Given the description of an element on the screen output the (x, y) to click on. 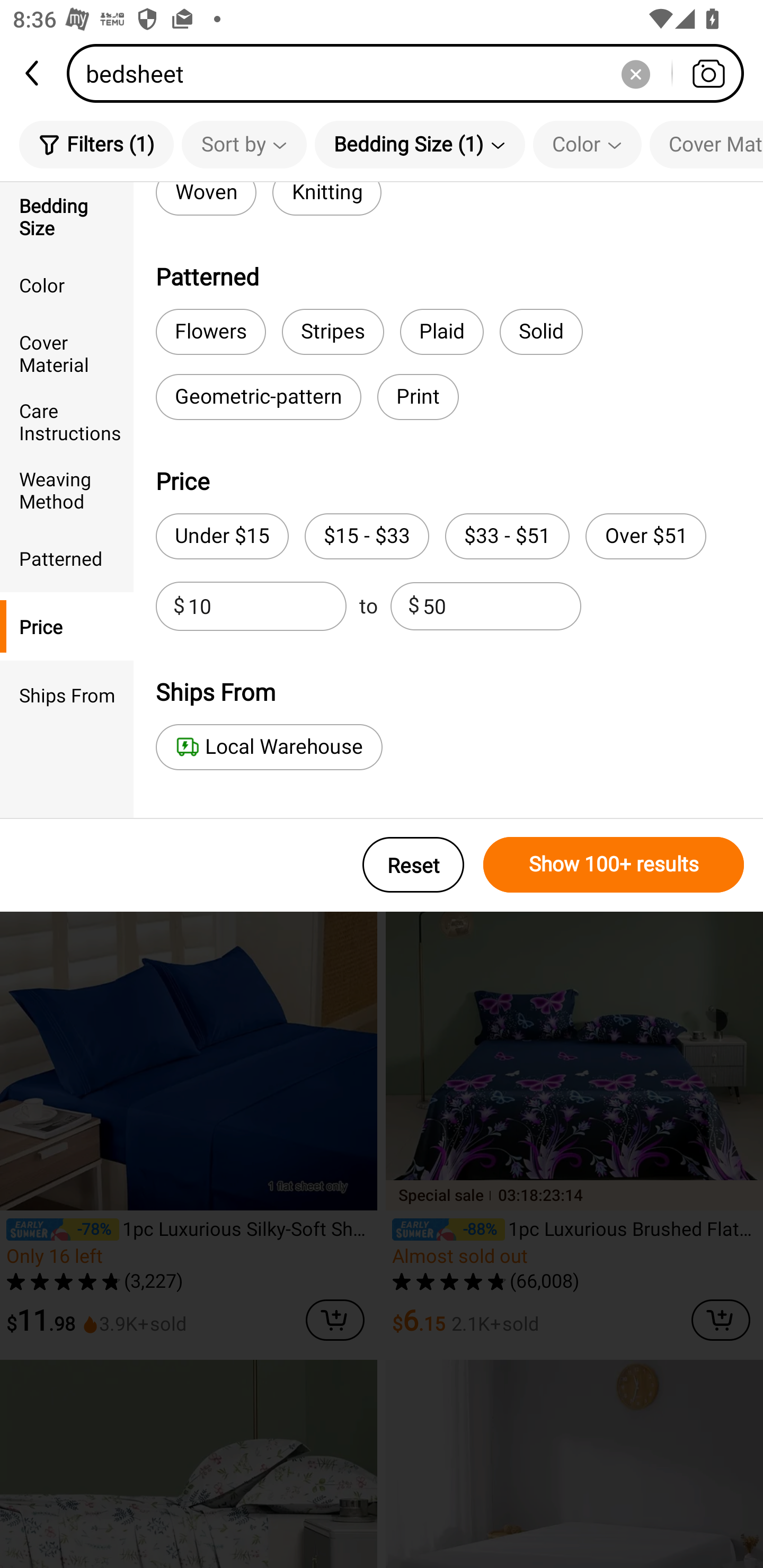
back (33, 72)
bedsheet (411, 73)
Delete search history (635, 73)
Search by photo (708, 73)
Filters (1) (96, 143)
Sort by (243, 143)
Bedding Size (1) (419, 143)
Color (587, 143)
Cover Material (706, 143)
Bedding Size (66, 215)
Woven (205, 198)
Knitting (326, 198)
bed sheet set (232, 271)
Color (66, 284)
Flowers (210, 331)
Stripes (332, 331)
Plaid (441, 331)
Solid (540, 331)
Cover Material (66, 352)
Geometric-pattern (258, 397)
